Given the description of an element on the screen output the (x, y) to click on. 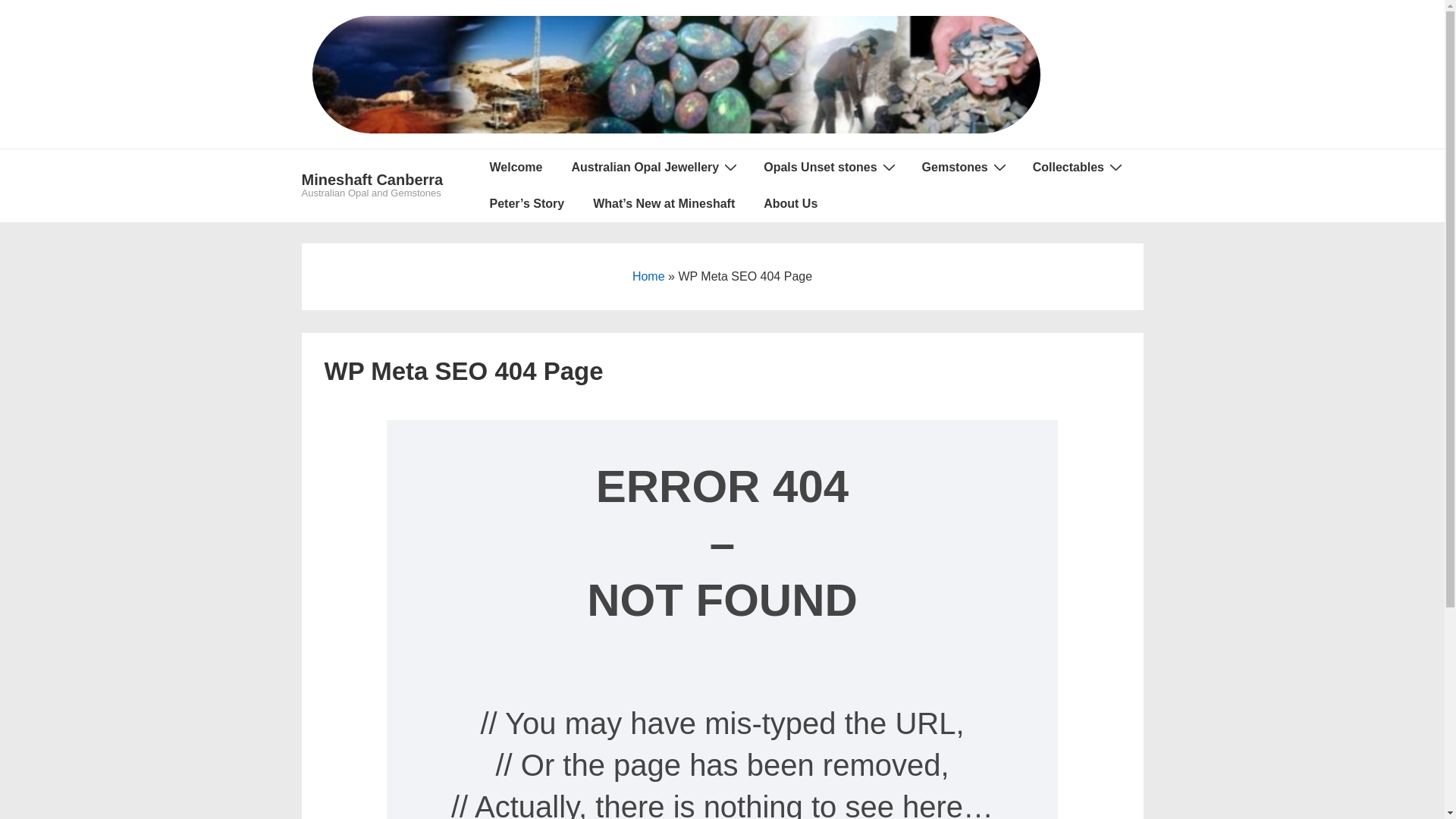
Australian Opal Jewellery Element type: text (652, 167)
Welcome Element type: text (516, 167)
Mineshaft Canberra Element type: text (372, 179)
Collectables Element type: text (1076, 167)
Home Element type: text (648, 275)
Gemstones Element type: text (962, 167)
About Us Element type: text (790, 203)
Opals Unset stones Element type: text (827, 167)
